Given the description of an element on the screen output the (x, y) to click on. 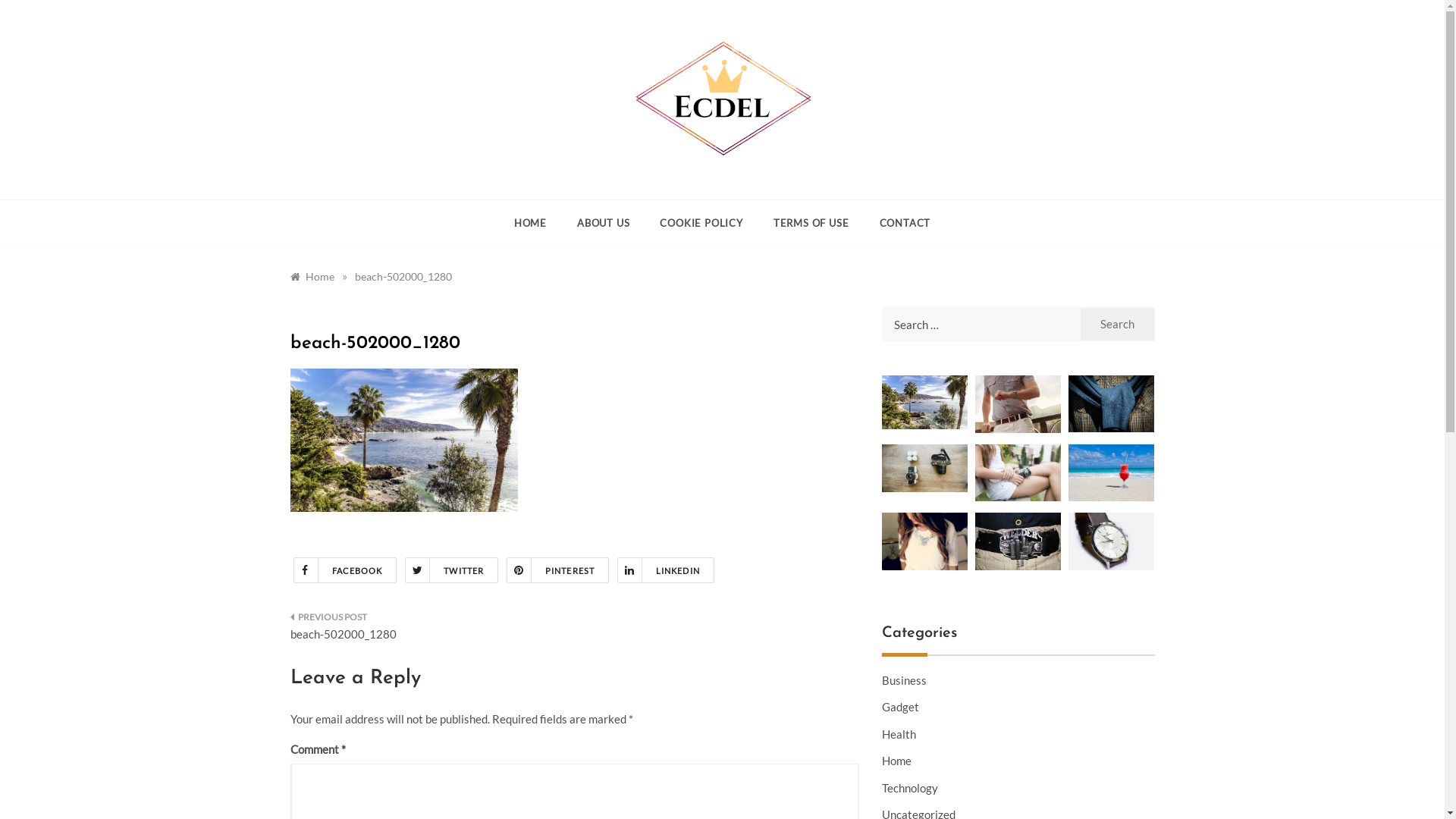
TERMS OF USE Element type: text (811, 222)
Business Element type: text (903, 680)
PINTEREST Element type: text (557, 570)
Gadget Element type: text (899, 707)
FACEBOOK Element type: text (344, 570)
Search Element type: text (1116, 324)
Health Element type: text (898, 734)
Ecdel Element type: text (667, 184)
LINKEDIN Element type: text (665, 570)
beach-502000_1280 Element type: text (402, 275)
Home Element type: text (895, 761)
TWITTER Element type: text (451, 570)
ABOUT US Element type: text (602, 222)
HOME Element type: text (537, 222)
Home Element type: text (311, 275)
beach-502000_1280 Element type: text (425, 630)
Technology Element type: text (909, 788)
CONTACT Element type: text (897, 222)
COOKIE POLICY Element type: text (700, 222)
